Given the description of an element on the screen output the (x, y) to click on. 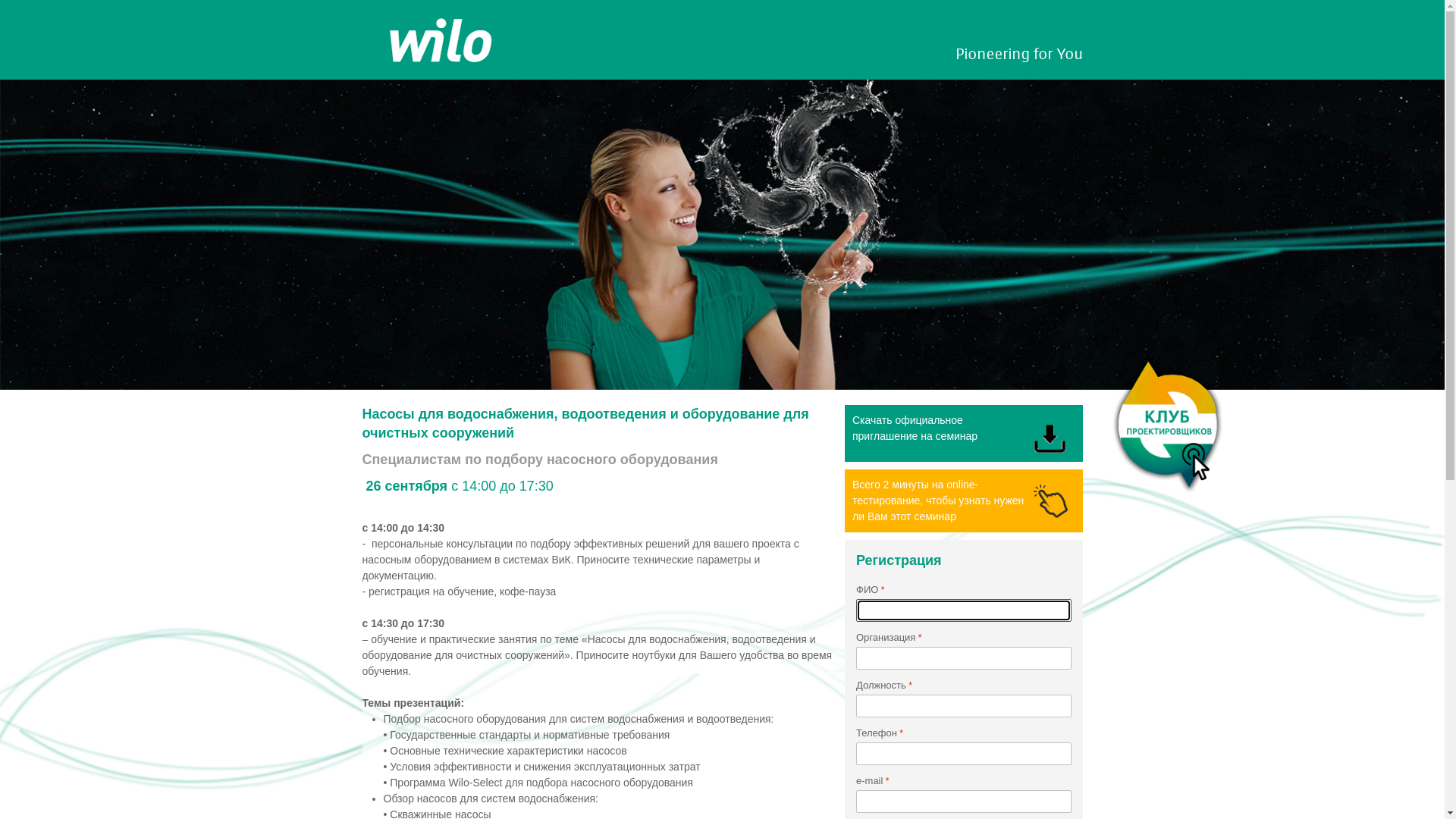
e-mail Element type: hover (963, 801)
